Given the description of an element on the screen output the (x, y) to click on. 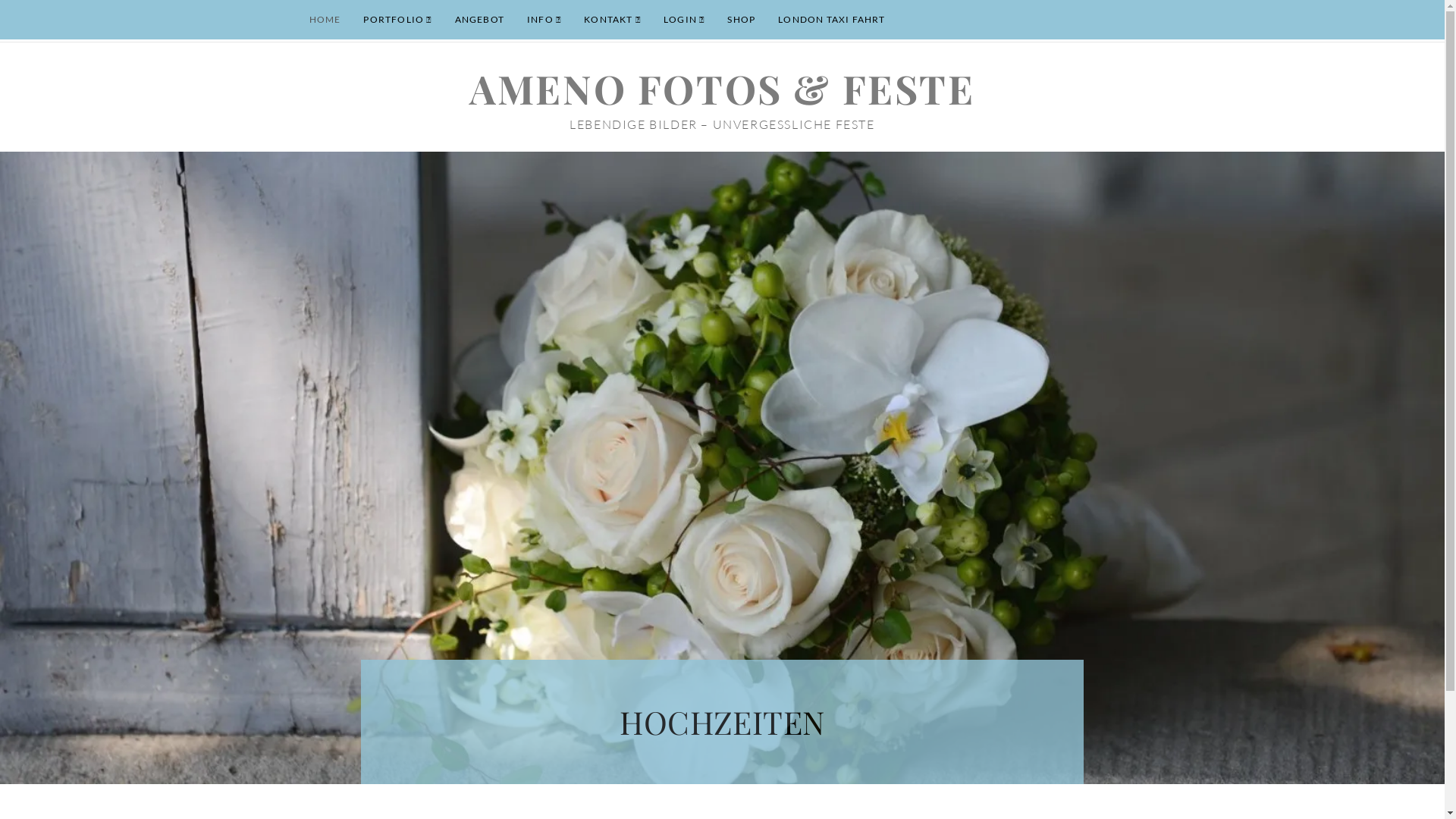
PORTFOLIO Element type: text (396, 19)
HOME Element type: text (324, 19)
HOCHZEITEN Element type: text (722, 721)
HOCHZEITEN Element type: text (722, 713)
ANGEBOT Element type: text (479, 19)
LONDON TAXI FAHRT Element type: text (831, 19)
LOGIN Element type: text (683, 19)
KONTAKT Element type: text (612, 19)
INFO Element type: text (543, 19)
SHOP Element type: text (740, 19)
AMENO FOTOS & FESTE Element type: text (721, 88)
